Given the description of an element on the screen output the (x, y) to click on. 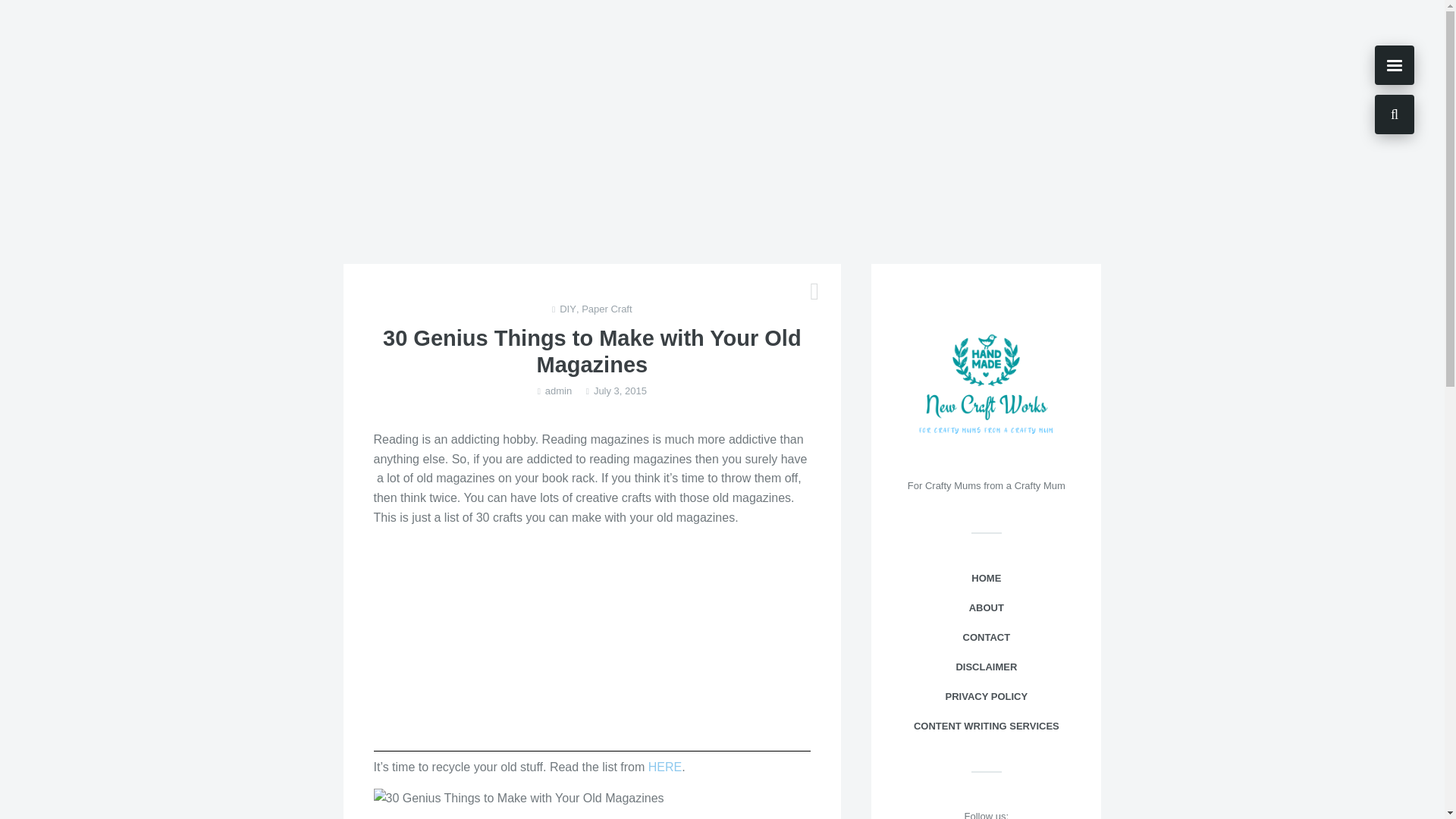
admin (558, 391)
HOME (985, 578)
Paper Craft (605, 309)
CONTENT WRITING SERVICES (985, 726)
Posts by admin (558, 391)
July 3, 2015 (620, 391)
DISCLAIMER (985, 667)
PRIVACY POLICY (985, 696)
HERE (664, 766)
Advertisement (591, 644)
ABOUT (985, 608)
DIY (567, 309)
CONTACT (985, 637)
